Given the description of an element on the screen output the (x, y) to click on. 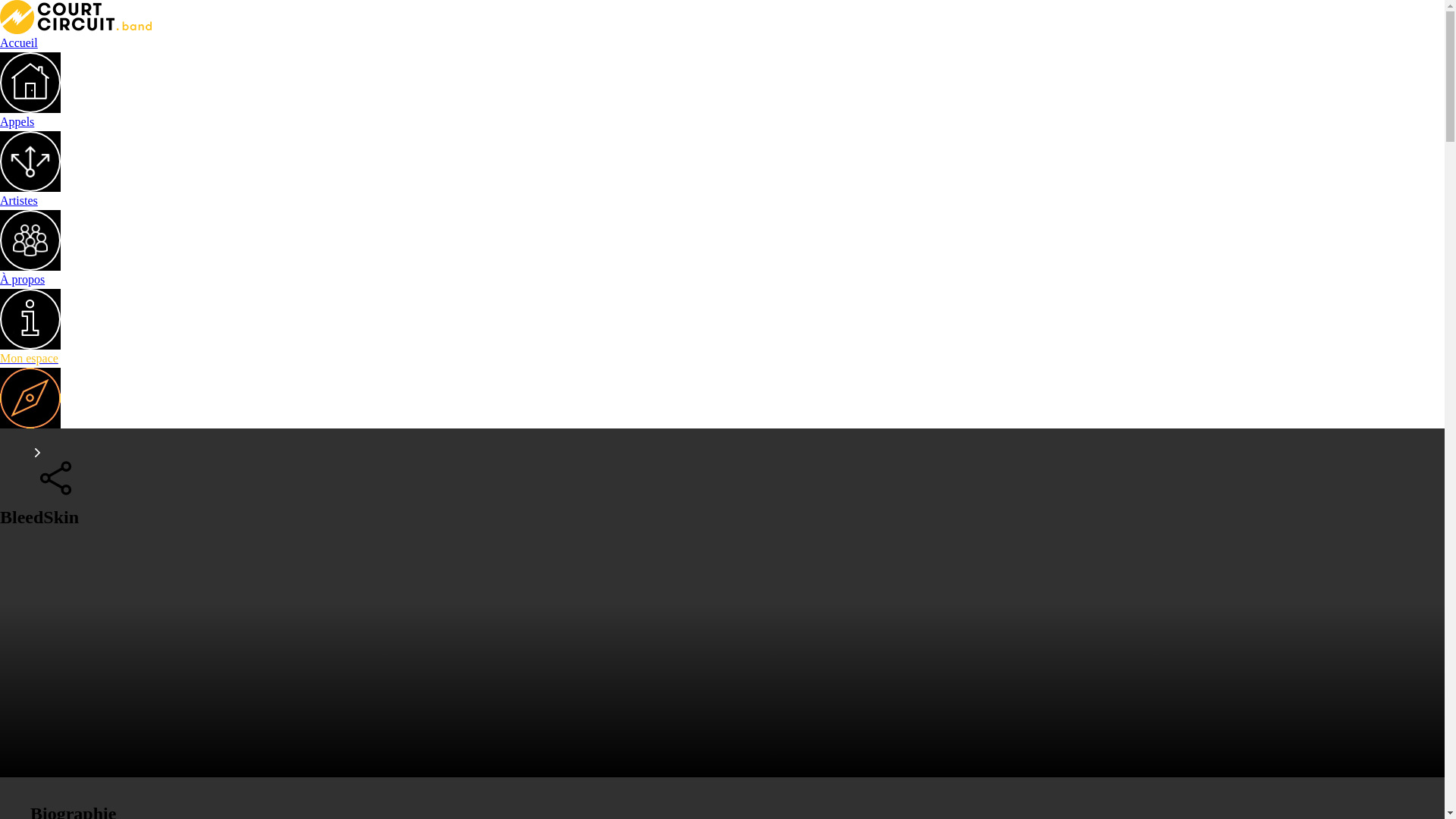
Mon espace Element type: text (722, 388)
Appels Element type: text (722, 151)
Artistes Element type: text (722, 230)
Accueil Element type: text (722, 73)
